Given the description of an element on the screen output the (x, y) to click on. 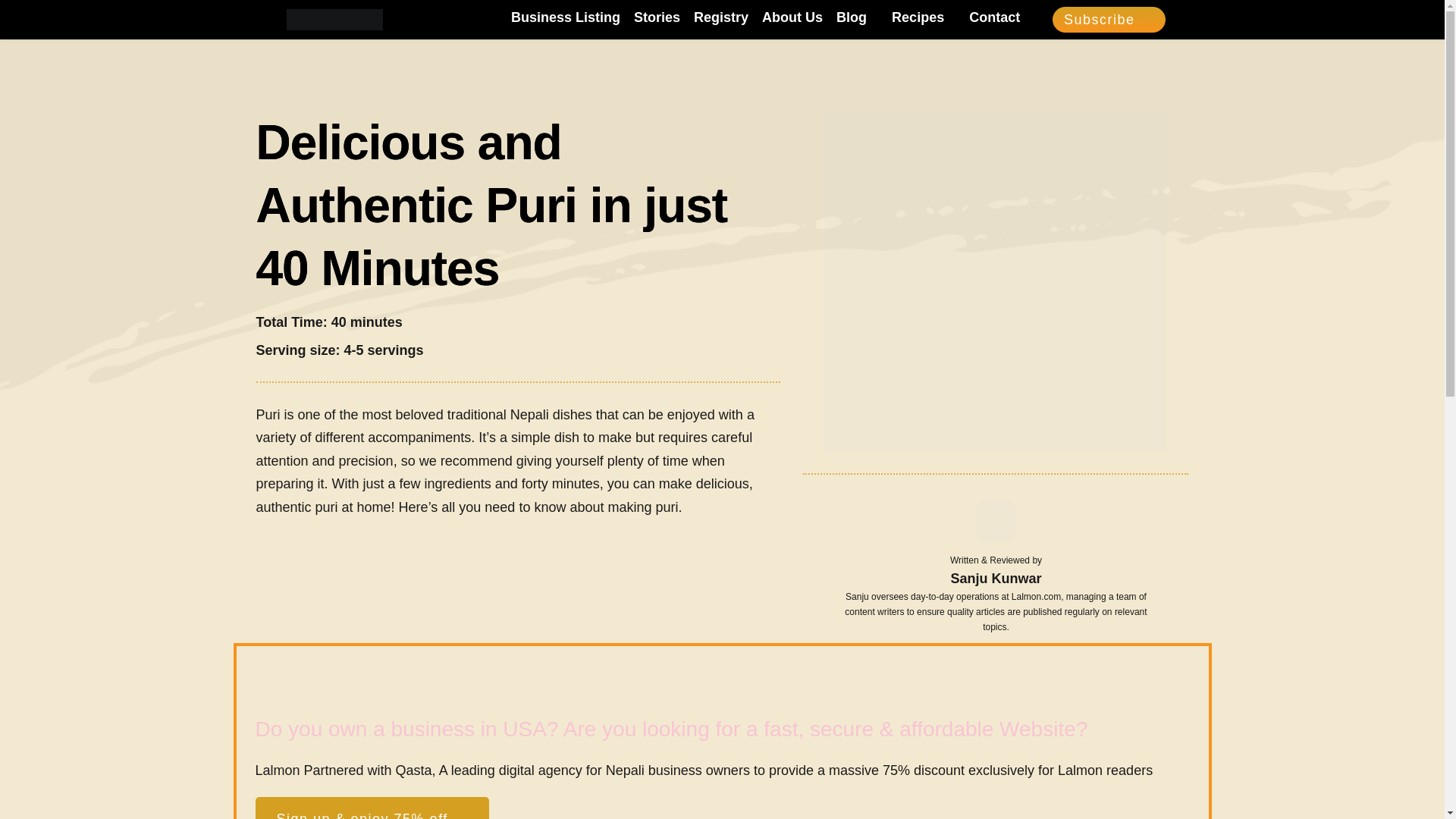
Business Listing (565, 17)
Stories (656, 17)
About Us (791, 17)
Contact (994, 17)
Registry (721, 17)
Recipes (923, 17)
Blog (856, 17)
